Given the description of an element on the screen output the (x, y) to click on. 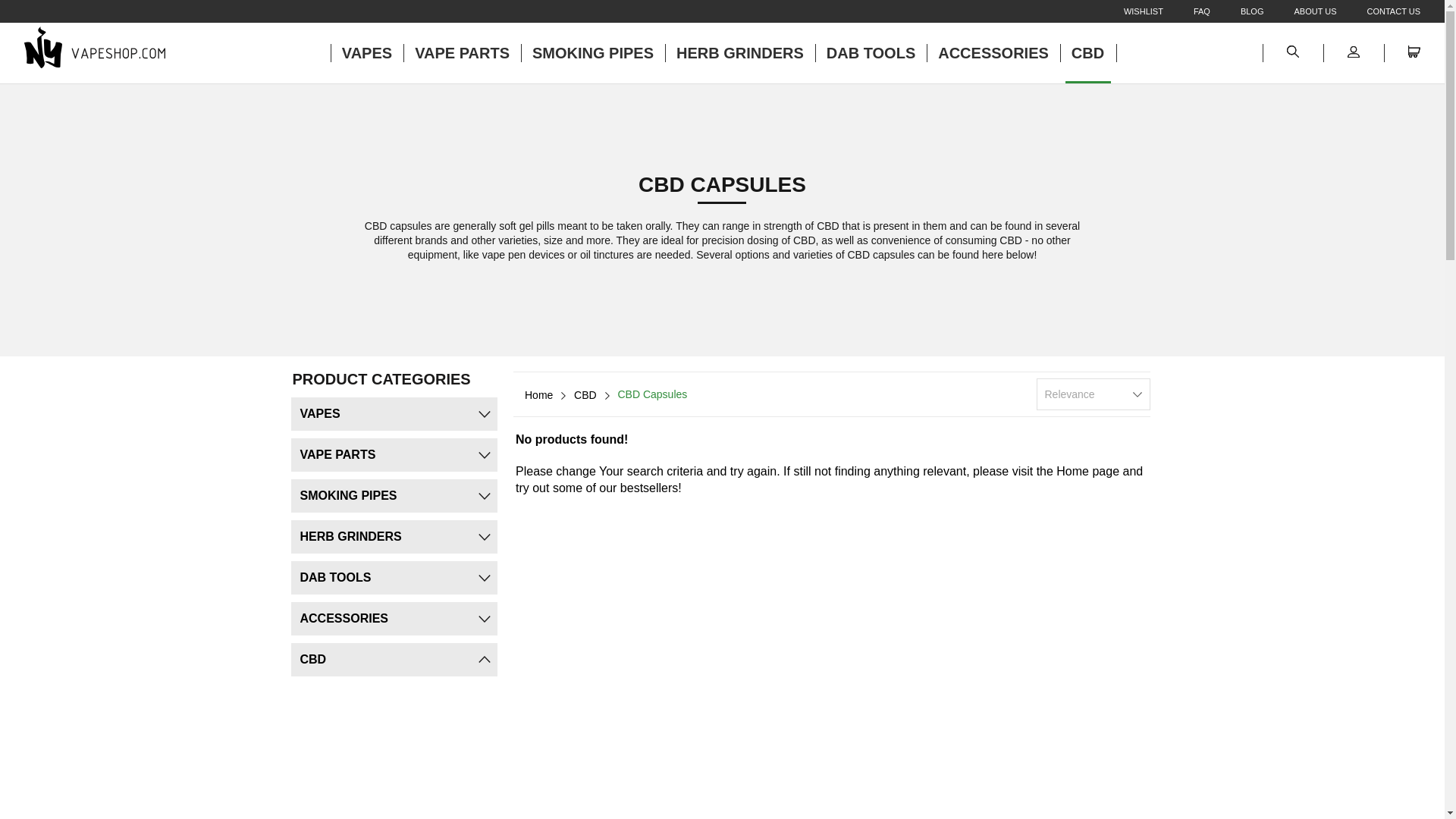
ABOUT US (1299, 10)
Home Page (94, 46)
BLOG (1236, 10)
VAPES (381, 413)
SMOKING PIPES (593, 52)
VAPES (366, 52)
FAQ (1186, 10)
ACCESSORIES (992, 52)
About Us (1299, 10)
CBD (1087, 52)
VAPE PARTS (462, 52)
DAB TOOLS (870, 52)
HERB GRINDERS (740, 52)
FAQ (1186, 10)
Contact Us (1378, 10)
